Given the description of an element on the screen output the (x, y) to click on. 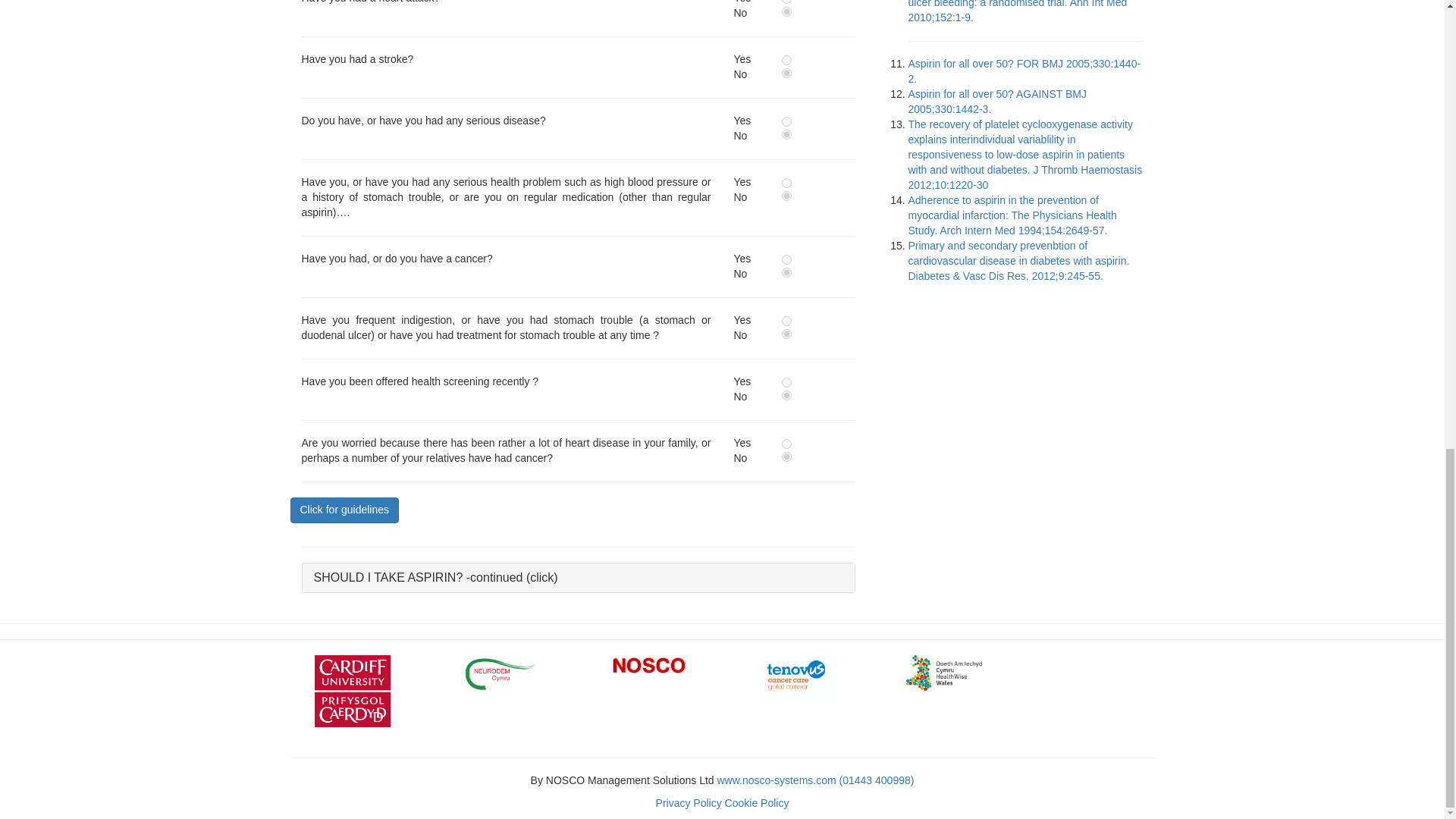
true (786, 443)
true (786, 121)
false (786, 456)
false (786, 334)
false (786, 395)
true (786, 259)
Aspirin for all over 50? FOR BMJ 2005;330:1440-2. (1024, 71)
true (786, 382)
false (786, 272)
false (786, 11)
false (786, 72)
true (786, 320)
false (786, 134)
